Given the description of an element on the screen output the (x, y) to click on. 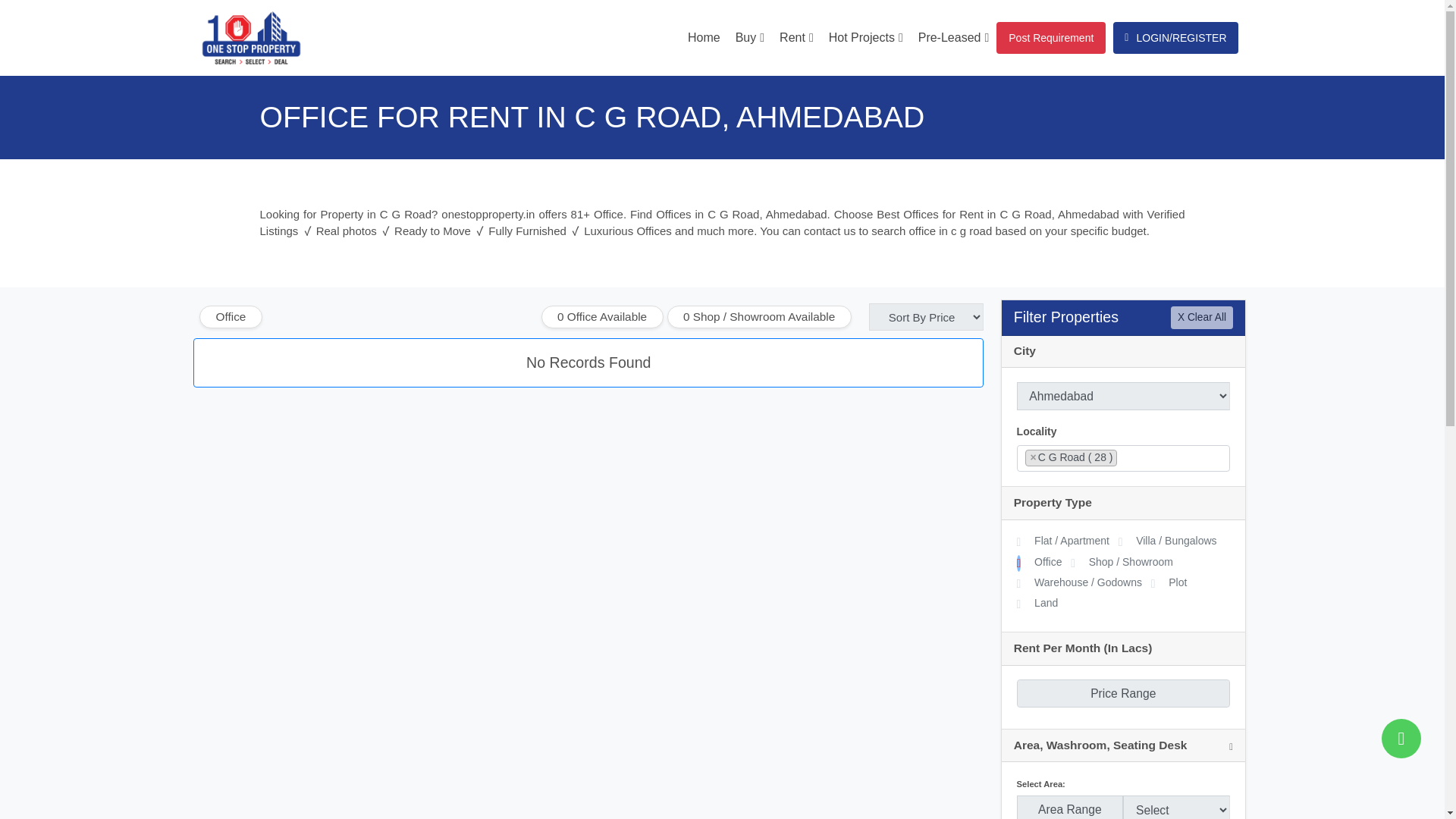
X Clear All (1201, 317)
Whatsapp (1401, 738)
Buy (749, 37)
Home (703, 37)
Rent (795, 37)
Price Range (1123, 693)
Pre-Leased (954, 37)
Hot Projects (865, 37)
Post Requirement (1050, 38)
